Given the description of an element on the screen output the (x, y) to click on. 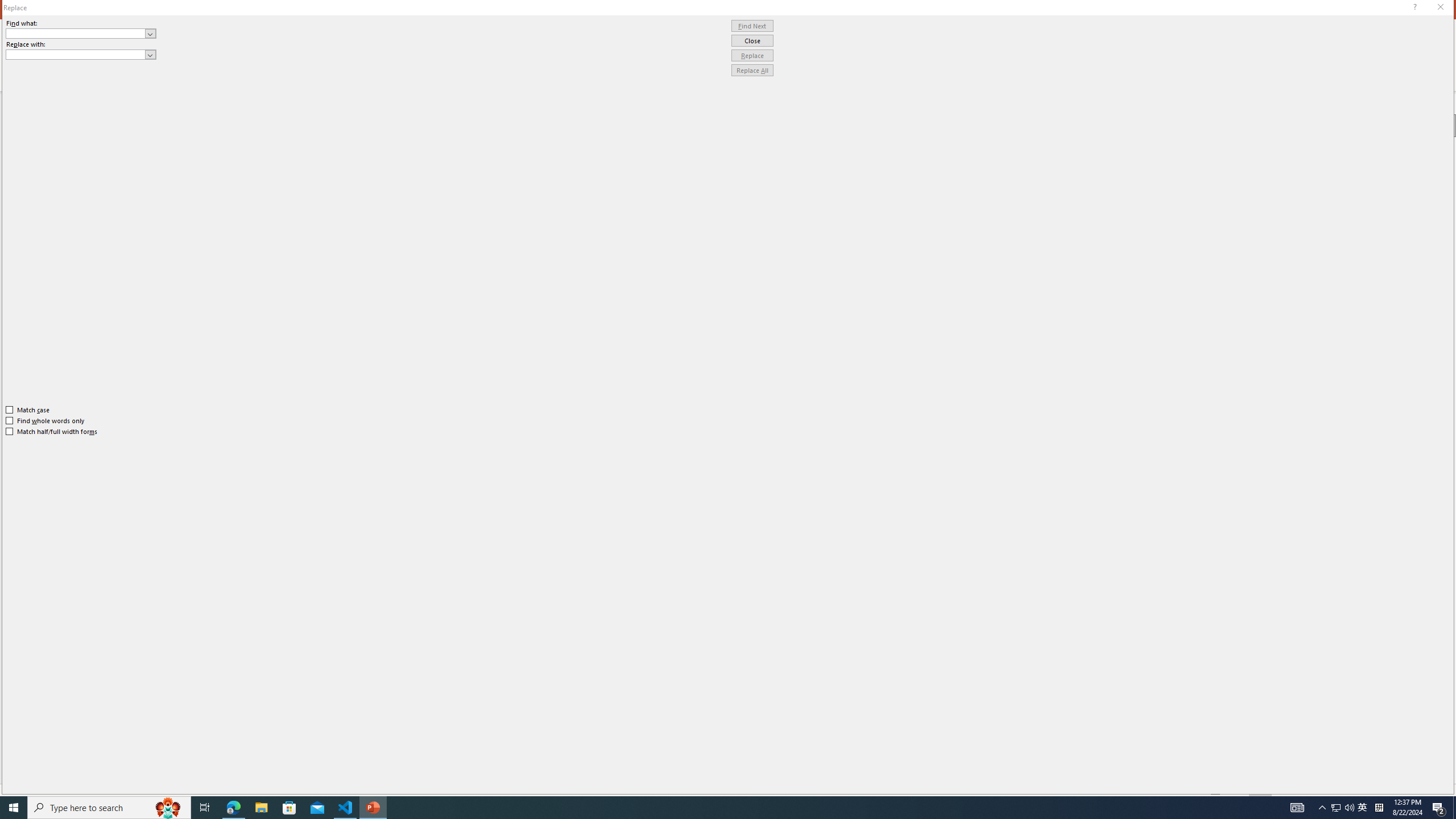
Find what (75, 33)
